Given the description of an element on the screen output the (x, y) to click on. 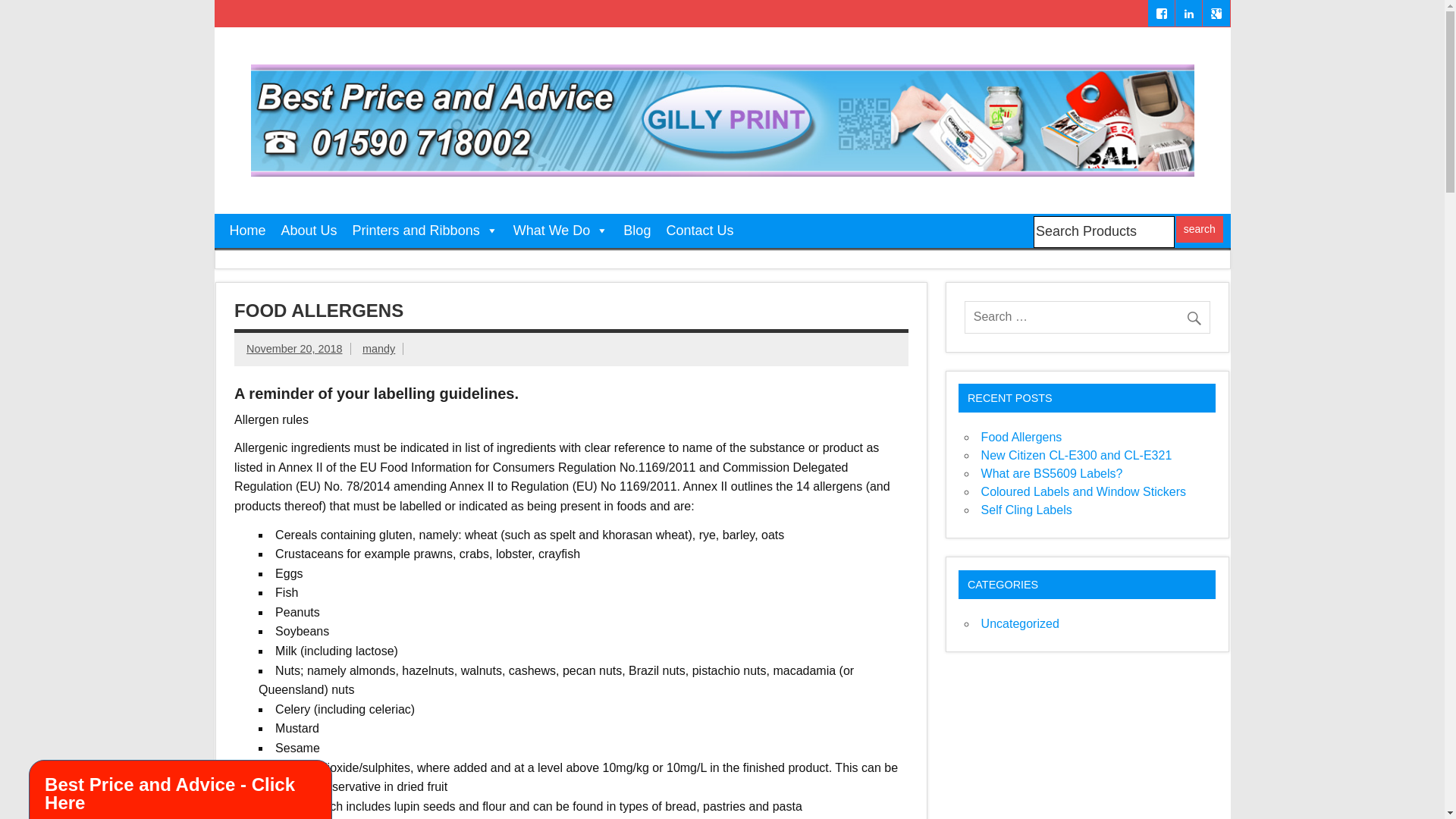
Gilly Print High Performance Labelling Lymington (721, 69)
search (1199, 229)
search (1199, 229)
What We Do (560, 230)
View all posts by mandy (378, 348)
Search Products (1103, 232)
Printers and Ribbons (425, 230)
About Us (309, 230)
3:41 pm (294, 348)
Home (247, 230)
